Given the description of an element on the screen output the (x, y) to click on. 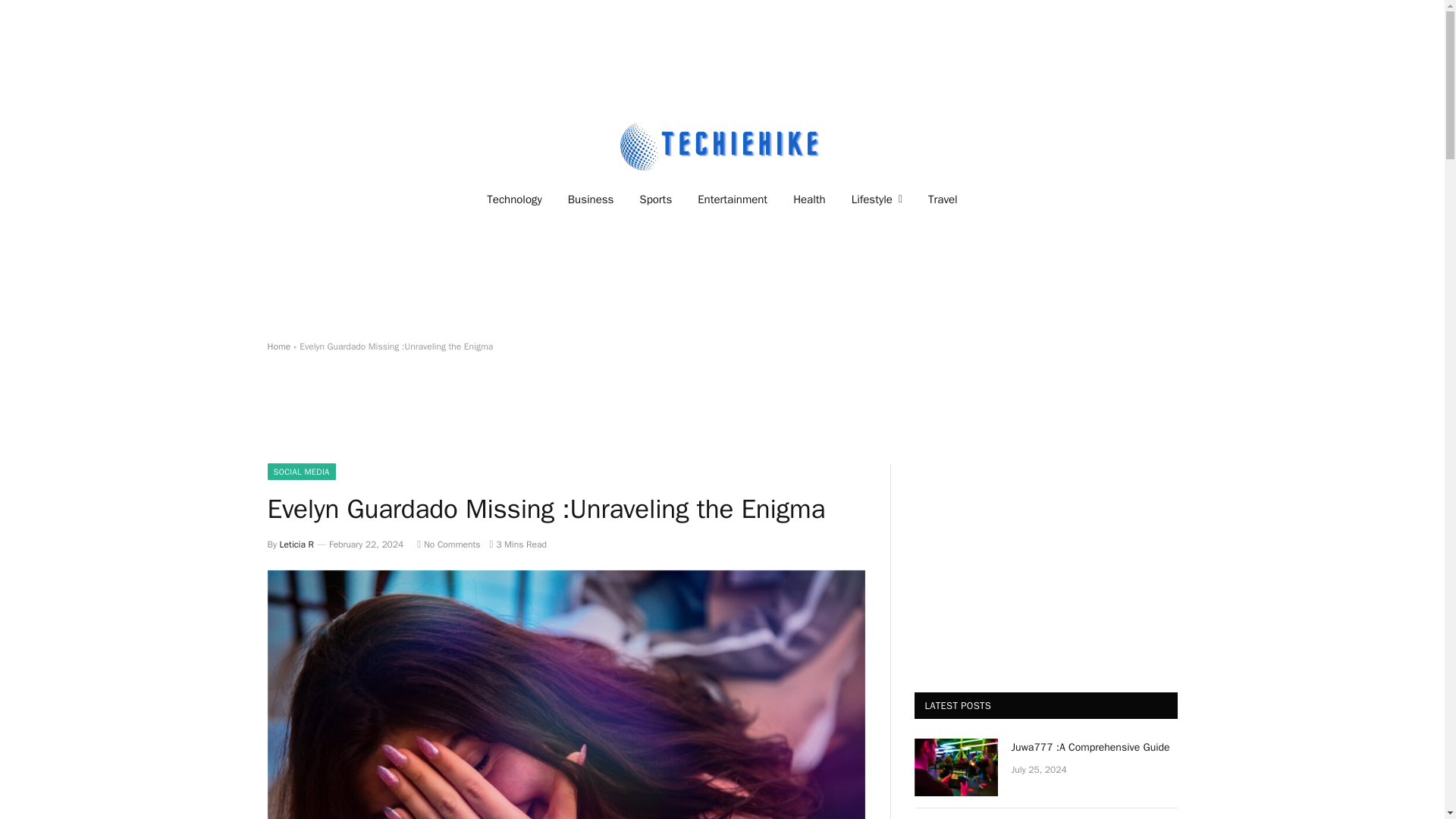
Business (590, 199)
Travel (943, 199)
Advertisement (1027, 557)
Lifestyle (876, 199)
Leticia R (296, 544)
Techie Hike (722, 145)
Juwa777 :A Comprehensive Guide (1094, 747)
Posts by Leticia R (296, 544)
Health (809, 199)
Advertisement (721, 56)
Advertisement (721, 280)
Advertisement (721, 418)
Sports (655, 199)
Technology (514, 199)
